Given the description of an element on the screen output the (x, y) to click on. 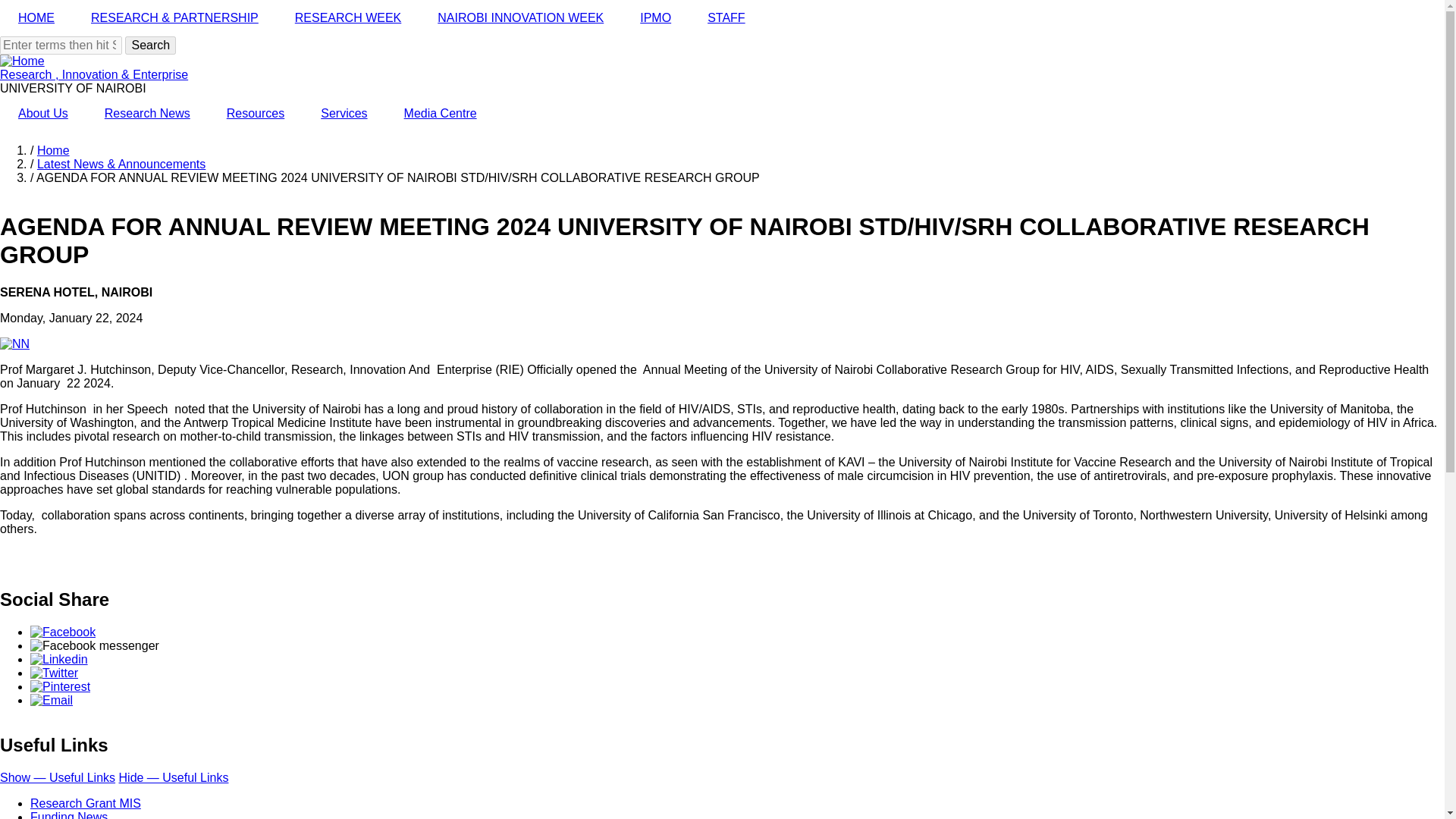
IPMO (654, 18)
Home (93, 74)
HOME (36, 18)
Facebook (63, 631)
RESEARCH WEEK (347, 18)
Search (150, 45)
NIW (520, 18)
Research Grant MIS (85, 802)
About Us (42, 113)
Search (150, 45)
STAFF (725, 18)
HOME (36, 18)
Email (51, 699)
Pinterest (60, 686)
Linkedin (58, 658)
